Given the description of an element on the screen output the (x, y) to click on. 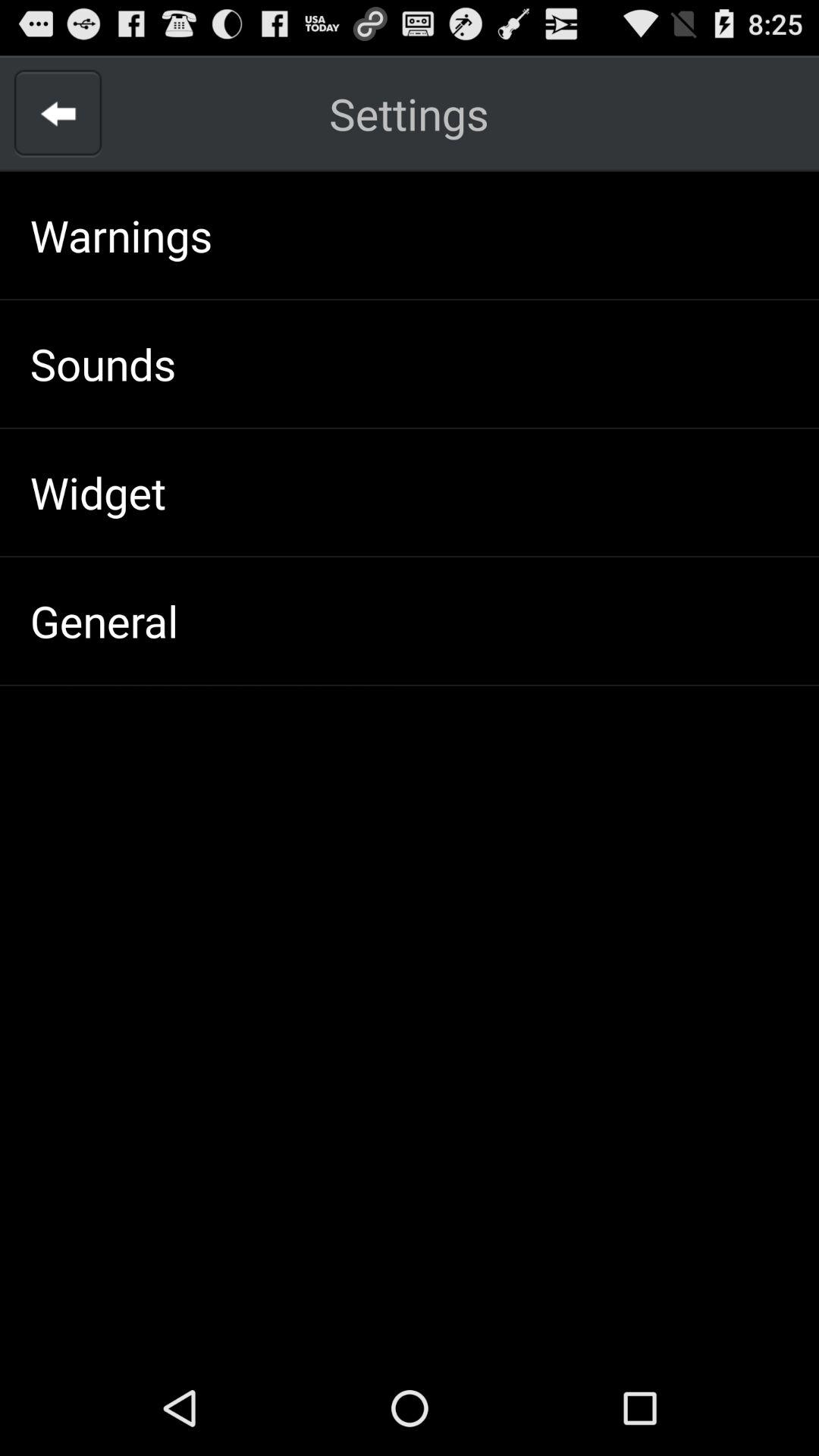
swipe to the sounds (103, 363)
